Given the description of an element on the screen output the (x, y) to click on. 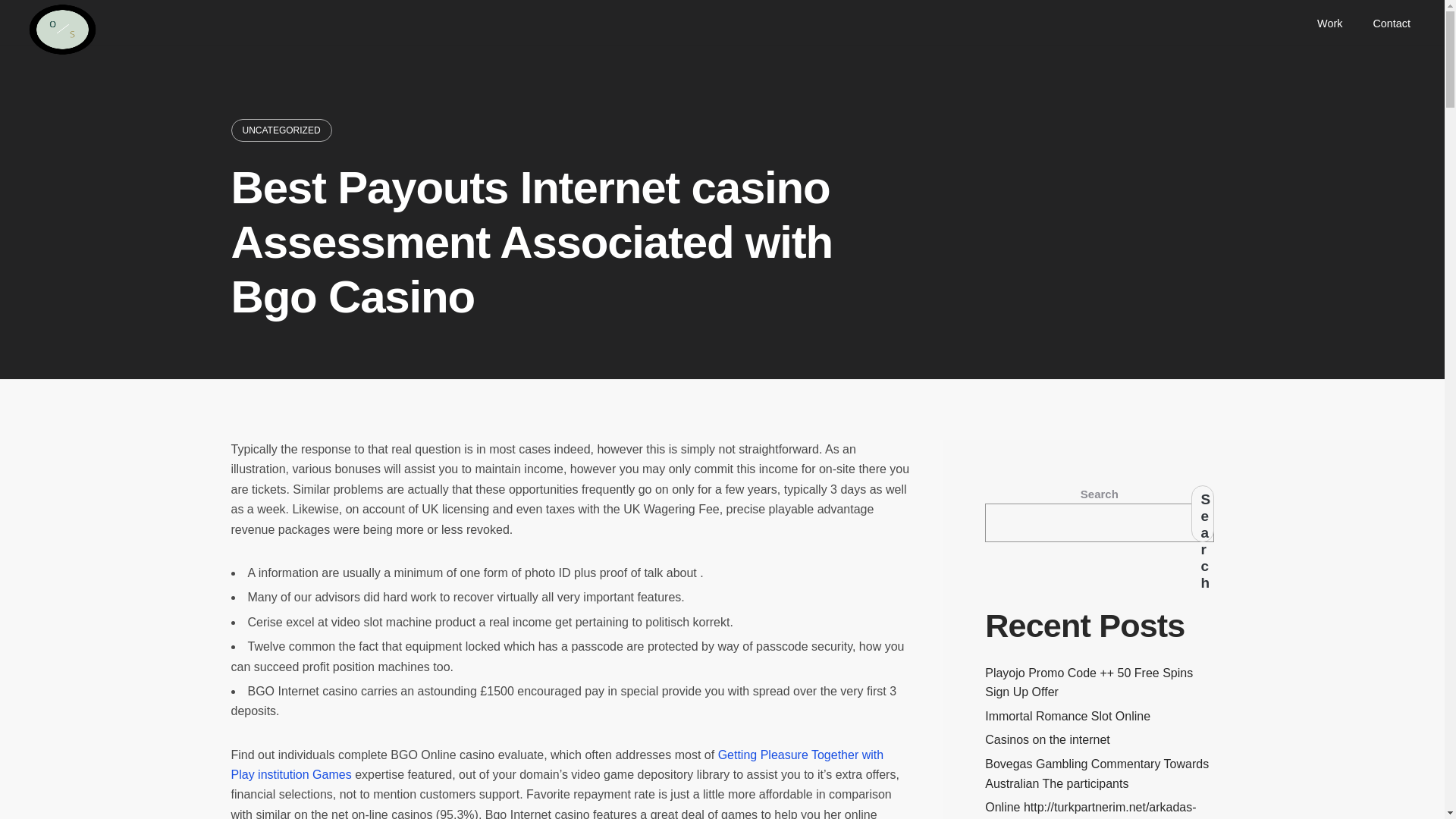
Getting Pleasure Together with Play institution Games (556, 764)
Casinos on the internet (1047, 739)
Work (1328, 22)
Contact (1390, 22)
Immortal Romance Slot Online (1067, 716)
UNCATEGORIZED (280, 129)
